Given the description of an element on the screen output the (x, y) to click on. 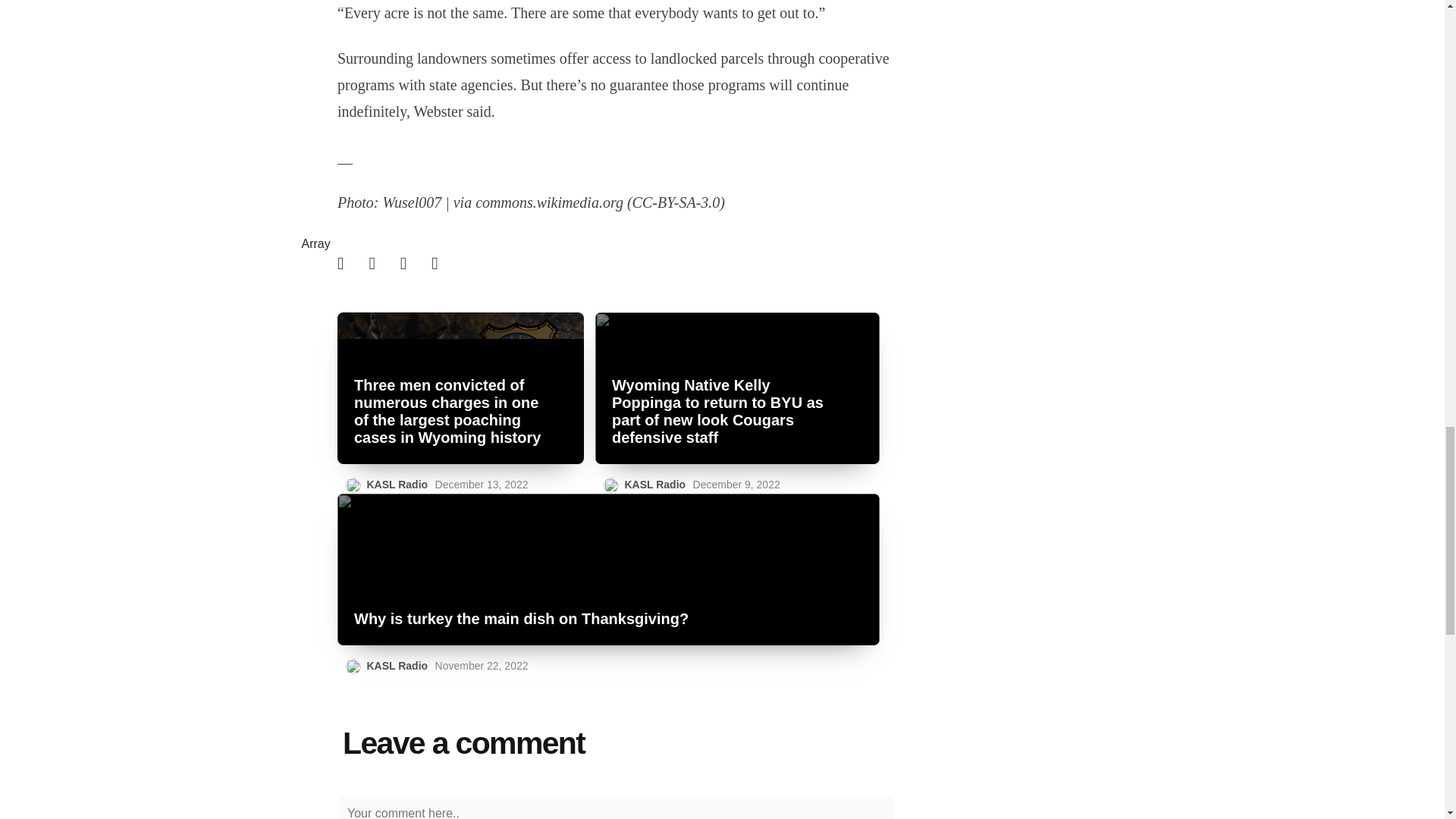
Posts by KASL Radio (397, 484)
Posts by KASL Radio (397, 665)
Posts by KASL Radio (654, 484)
